Given the description of an element on the screen output the (x, y) to click on. 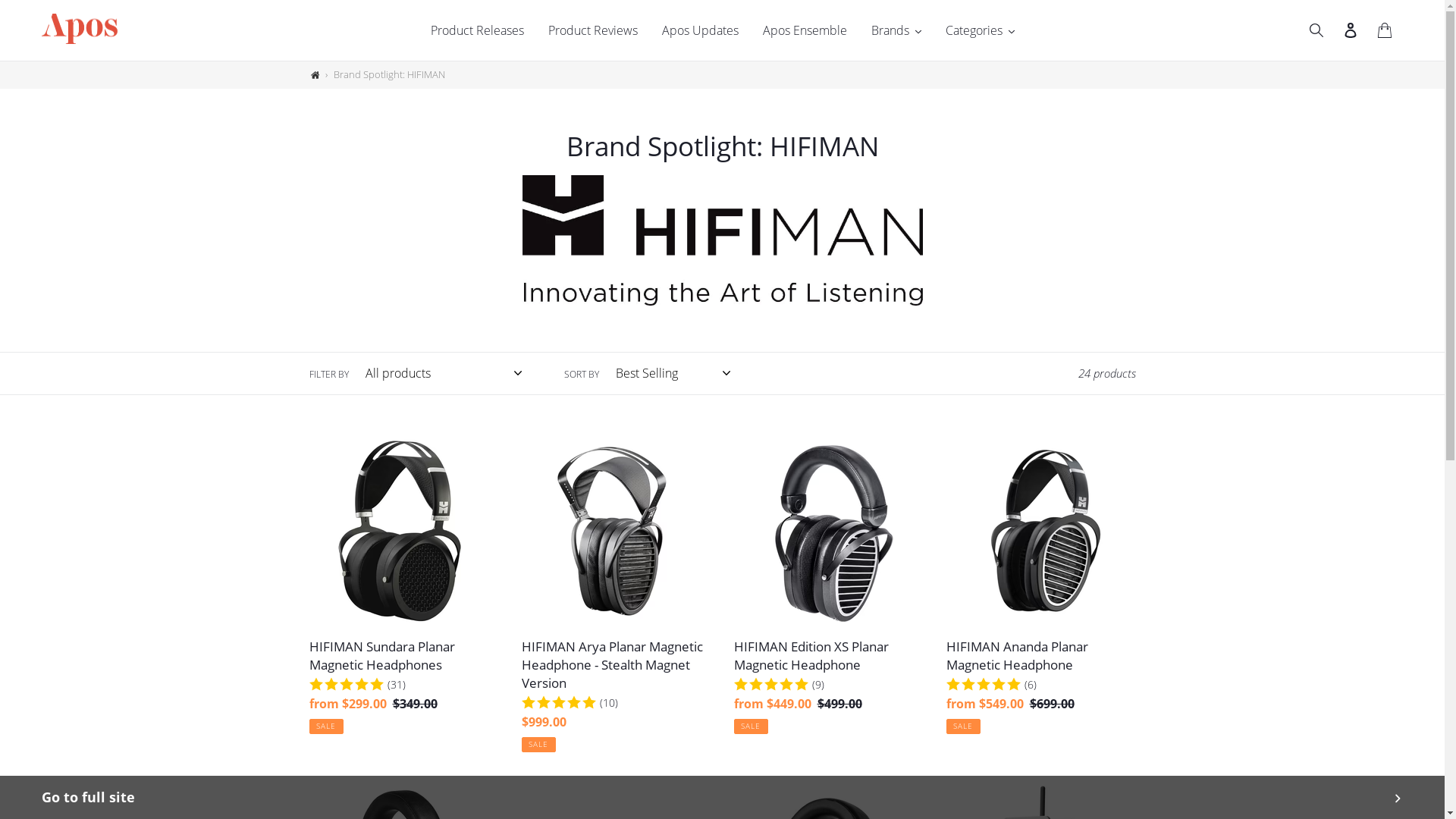
Brands Element type: text (895, 29)
Apos Ensemble Element type: text (804, 29)
HIFIMAN Sundara Planar Magnetic Headphones Element type: text (403, 585)
Home Element type: hover (315, 75)
Apos Updates Element type: text (699, 29)
HIFIMAN Ananda Planar Magnetic Headphone Element type: text (1040, 585)
Categories Element type: text (979, 29)
Search Element type: text (1317, 30)
Product Reviews Element type: text (591, 29)
Product Releases Element type: text (477, 29)
Log in Element type: text (1351, 30)
Cart Element type: text (1385, 30)
HIFIMAN Edition XS Planar Magnetic Headphone Element type: text (828, 585)
